Given the description of an element on the screen output the (x, y) to click on. 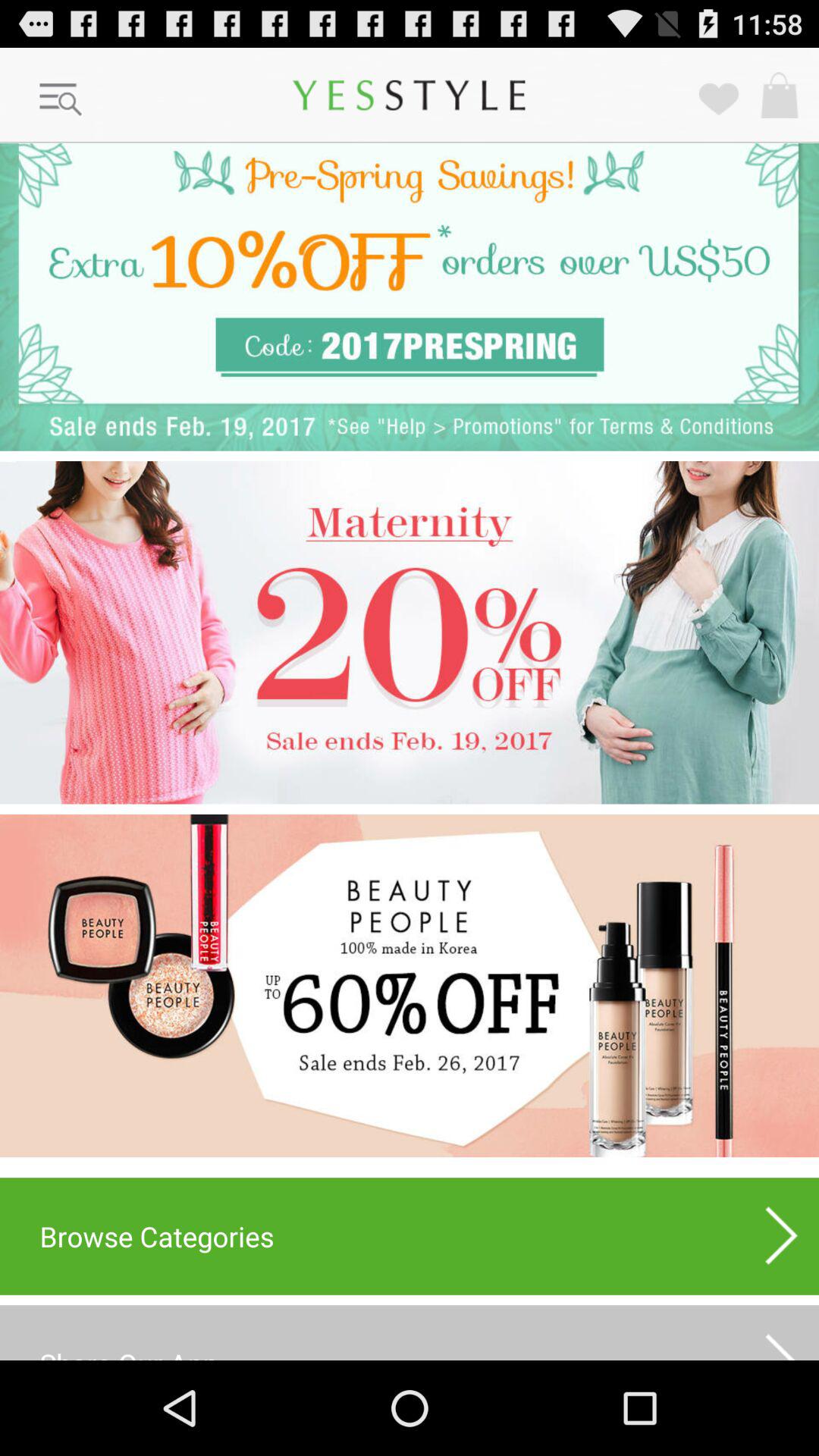
choose the item at the top left corner (61, 100)
